Given the description of an element on the screen output the (x, y) to click on. 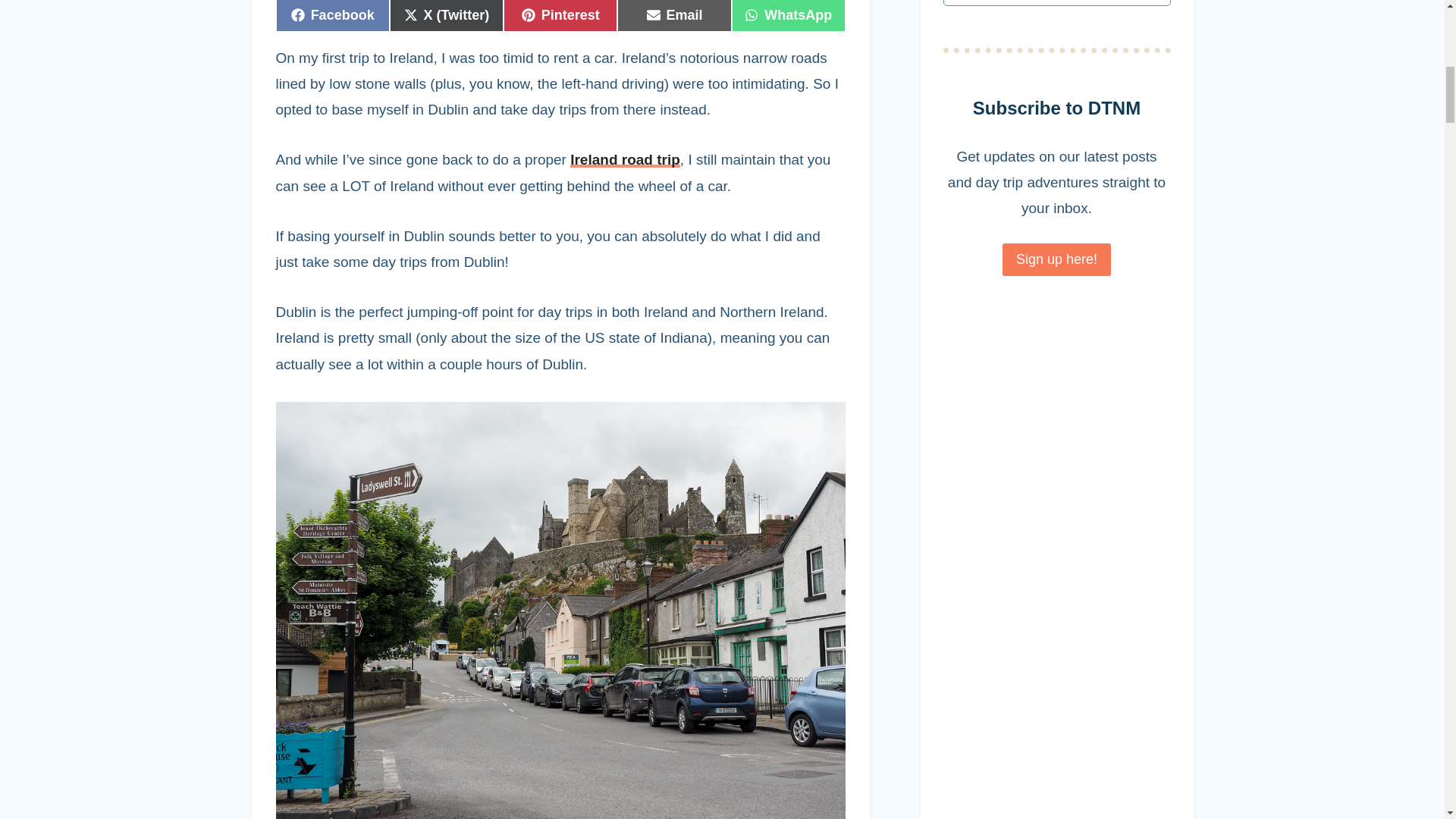
Ireland road trip (673, 15)
